Given the description of an element on the screen output the (x, y) to click on. 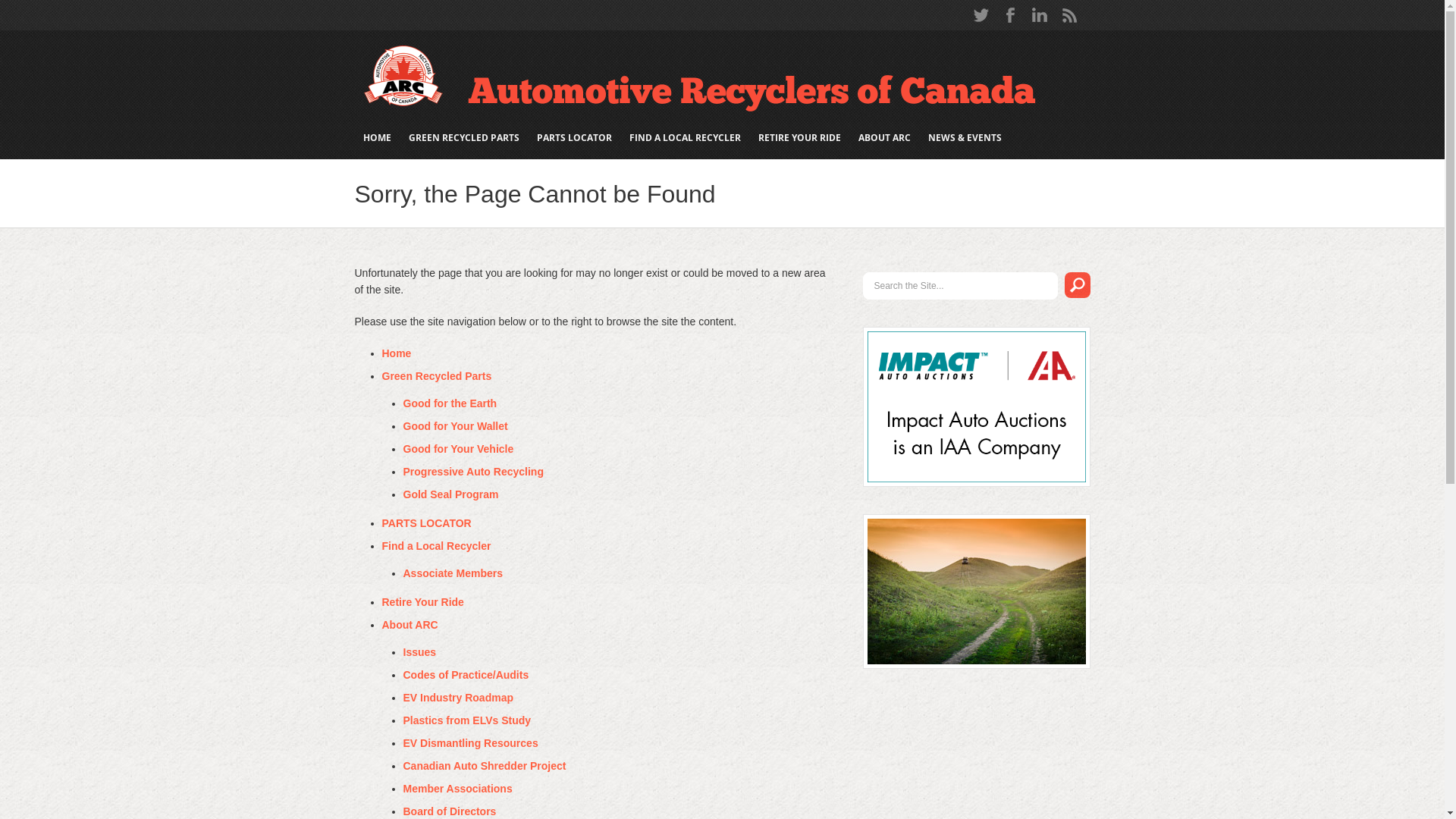
PARTS LOCATOR Element type: text (573, 137)
About ARC Element type: text (410, 624)
FIND A LOCAL RECYCLER Element type: text (684, 137)
GREEN RECYCLED PARTS Element type: text (464, 137)
Good for Your Wallet Element type: text (455, 426)
Board of Directors Element type: text (449, 811)
Member Associations Element type: text (457, 788)
Green Recycled Parts Element type: text (437, 376)
NEWS & EVENTS Element type: text (964, 137)
Good for the Earth Element type: text (450, 403)
Canadian Auto Shredder Project Element type: text (484, 765)
Home Element type: text (396, 353)
Twitter Element type: text (980, 14)
Gold Seal Program Element type: text (450, 494)
HOME Element type: text (377, 137)
Good for Your Vehicle Element type: text (458, 448)
Find a Local Recycler Element type: text (436, 545)
Issues Element type: text (419, 652)
Retire Your Ride Element type: text (423, 602)
RETIRE YOUR RIDE Element type: text (799, 137)
EV Industry Roadmap Element type: text (458, 697)
LinkedIn Element type: text (1039, 14)
Associate Members Element type: text (453, 573)
Facebook Element type: text (1010, 14)
ABOUT ARC Element type: text (884, 137)
PARTS LOCATOR Element type: text (426, 523)
EV Dismantling Resources Element type: text (470, 743)
Search Element type: text (1077, 285)
RSS Feed Element type: text (1068, 14)
Codes of Practice/Audits Element type: text (466, 674)
Plastics from ELVs Study Element type: text (467, 720)
Progressive Auto Recycling Element type: text (473, 471)
